Given the description of an element on the screen output the (x, y) to click on. 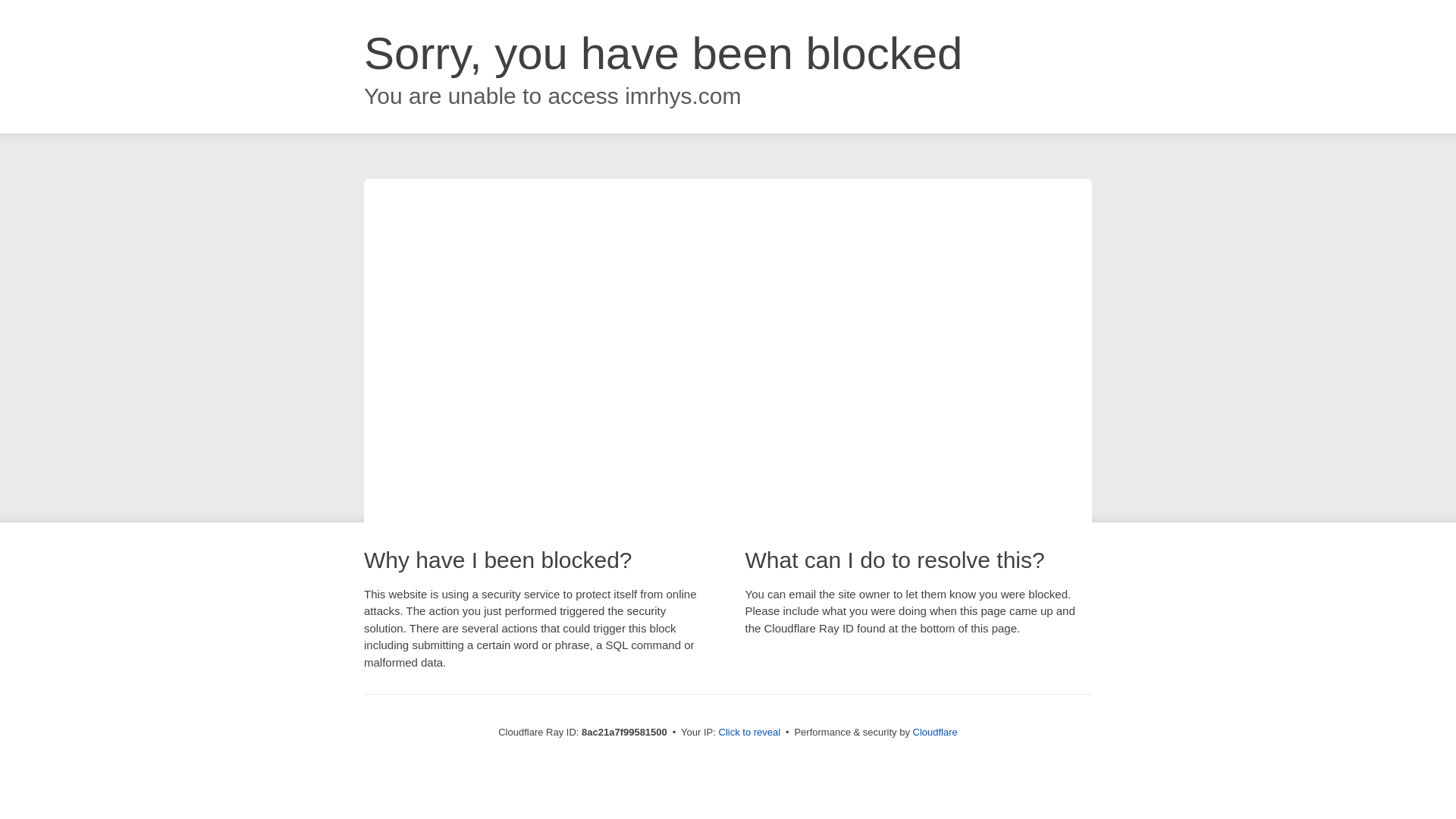
Click to reveal (749, 732)
Cloudflare (935, 731)
